Given the description of an element on the screen output the (x, y) to click on. 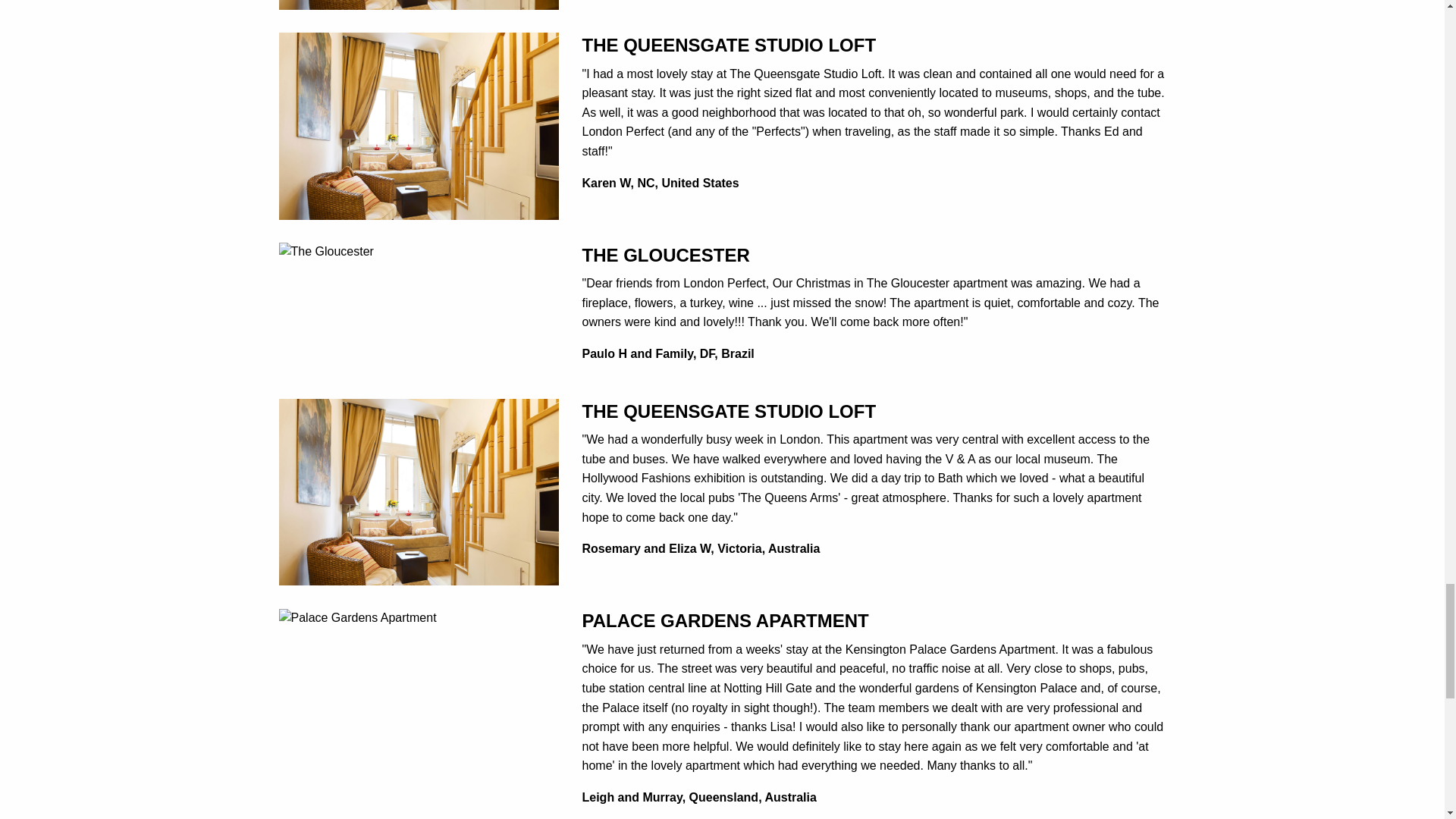
The Gloucester (326, 250)
The Queensgate Studio Loft (419, 490)
The Queensgate Studio Loft (419, 124)
